Given the description of an element on the screen output the (x, y) to click on. 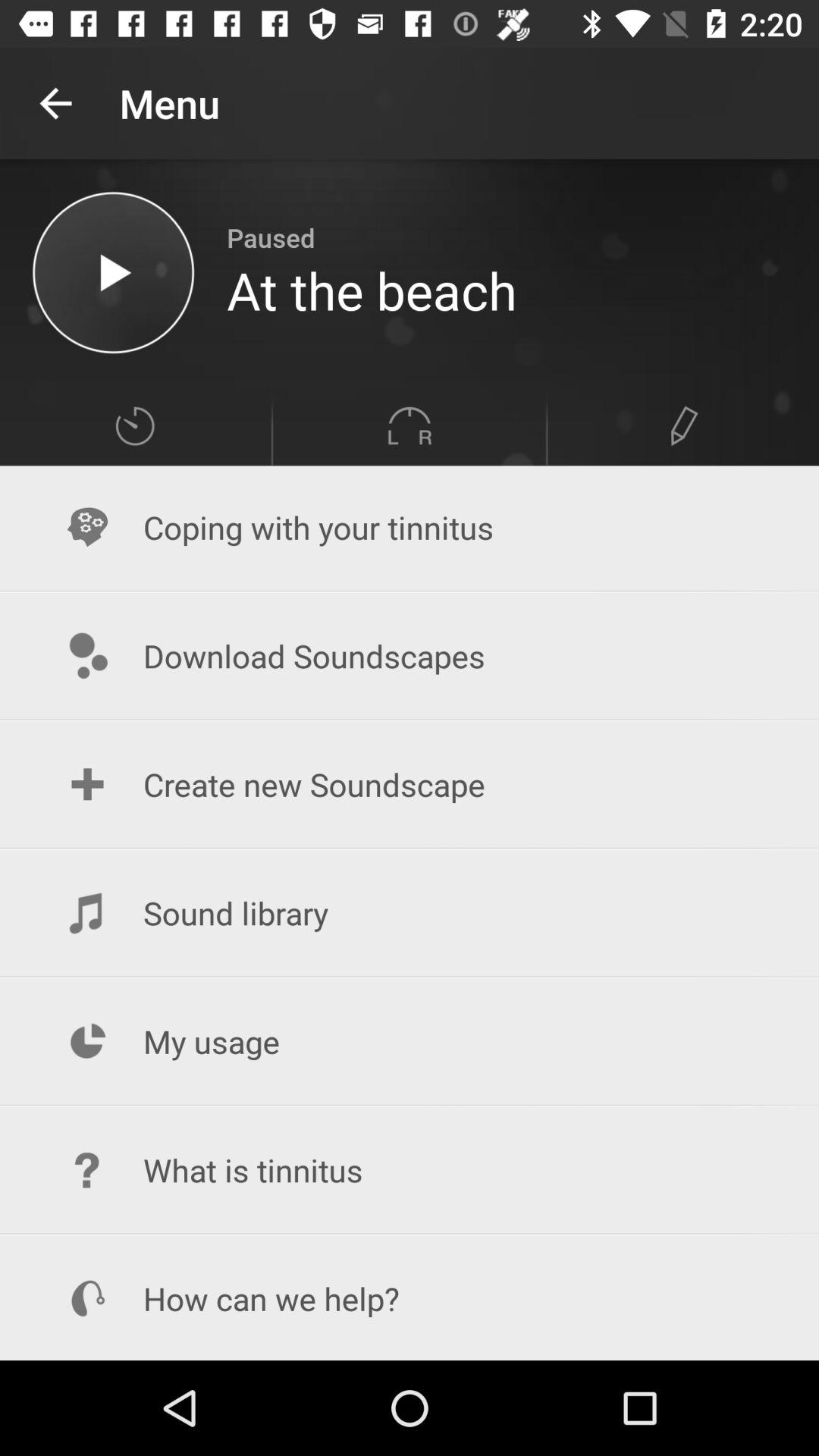
go to edit information tab (684, 425)
